Given the description of an element on the screen output the (x, y) to click on. 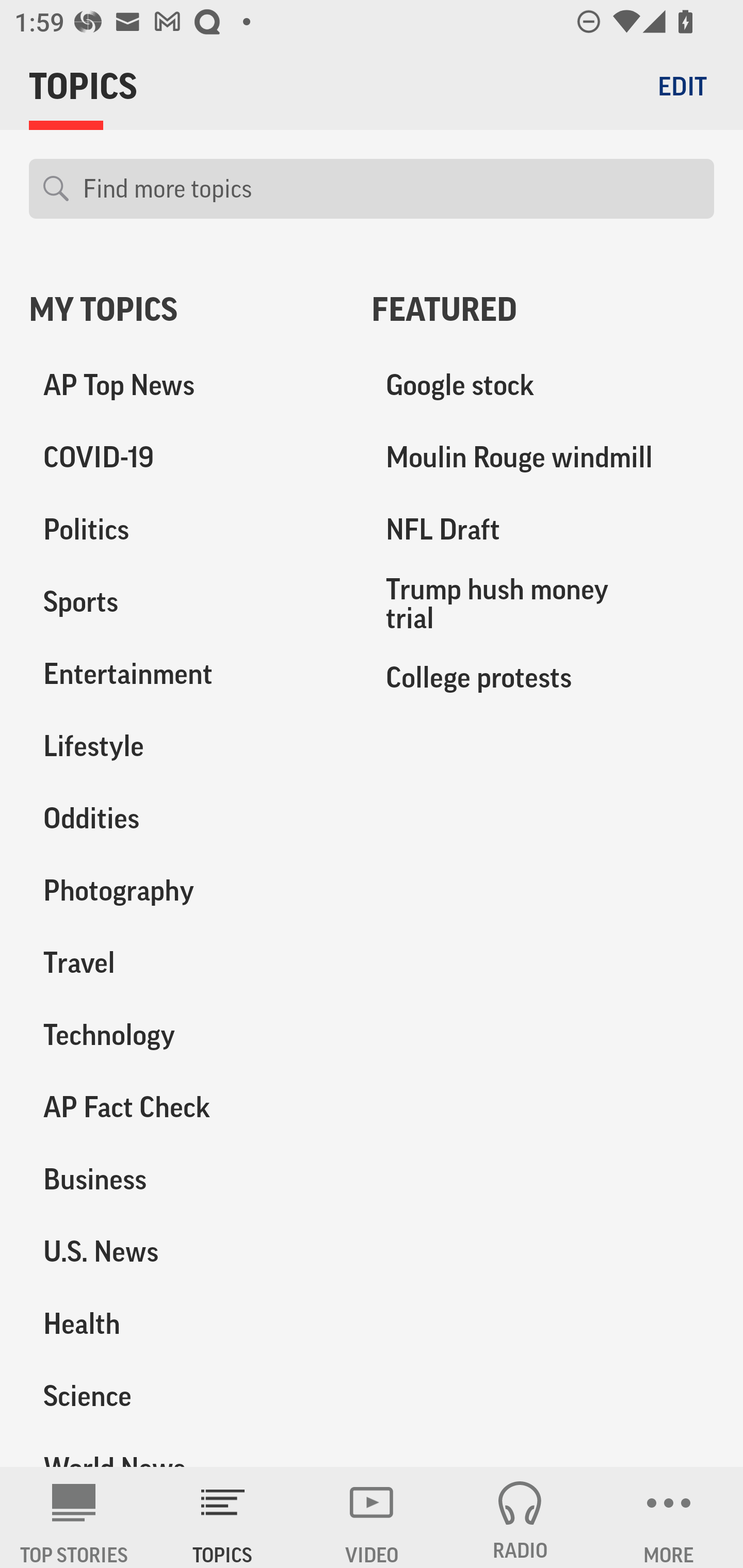
EDIT (682, 86)
Find more topics (391, 188)
AP Top News (185, 385)
Google stock (542, 385)
COVID-19 (185, 457)
Moulin Rouge windmill (542, 457)
Politics (185, 529)
NFL Draft (542, 529)
Sports (185, 602)
Trump hush money trial (542, 603)
Entertainment (185, 674)
College protests (542, 677)
Lifestyle (185, 746)
Oddities (185, 818)
Photography (185, 890)
Travel (185, 962)
Technology (185, 1034)
AP Fact Check (185, 1106)
Business (185, 1179)
U.S. News (185, 1251)
Health (185, 1323)
Science (185, 1395)
AP News TOP STORIES (74, 1517)
TOPICS (222, 1517)
VIDEO (371, 1517)
RADIO (519, 1517)
MORE (668, 1517)
